Given the description of an element on the screen output the (x, y) to click on. 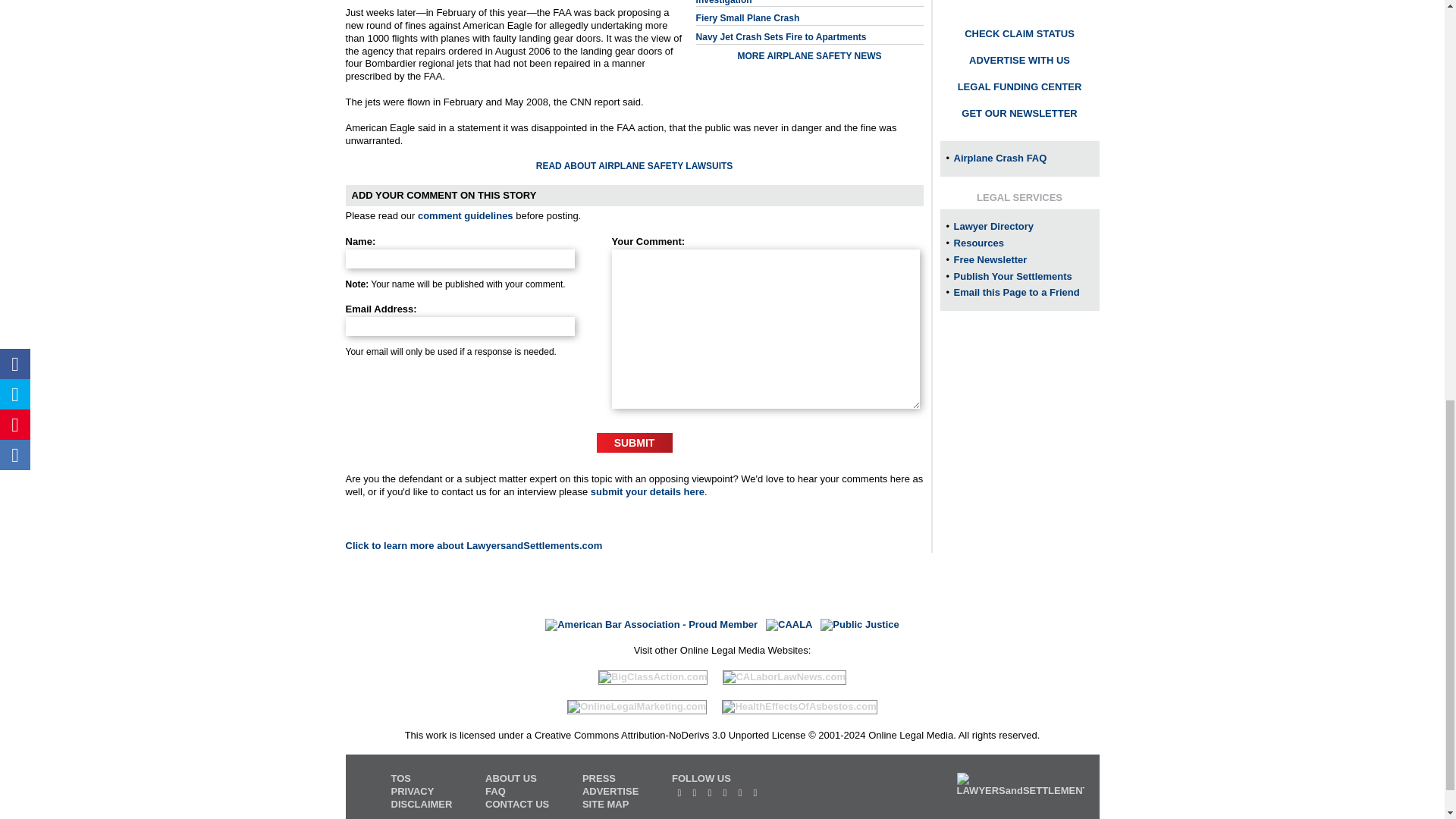
submit your details here (647, 491)
Submit (634, 442)
Subscribe to RSS Feeds (679, 792)
Click to learn more about LawyersandSettlements.com (474, 545)
Submit (634, 442)
Follow us on LinkedIn (724, 792)
Follow us on FaceBook (709, 792)
Follow us on Pinterest (740, 792)
Follow us on Twitter (694, 792)
comment guidelines (465, 215)
